Given the description of an element on the screen output the (x, y) to click on. 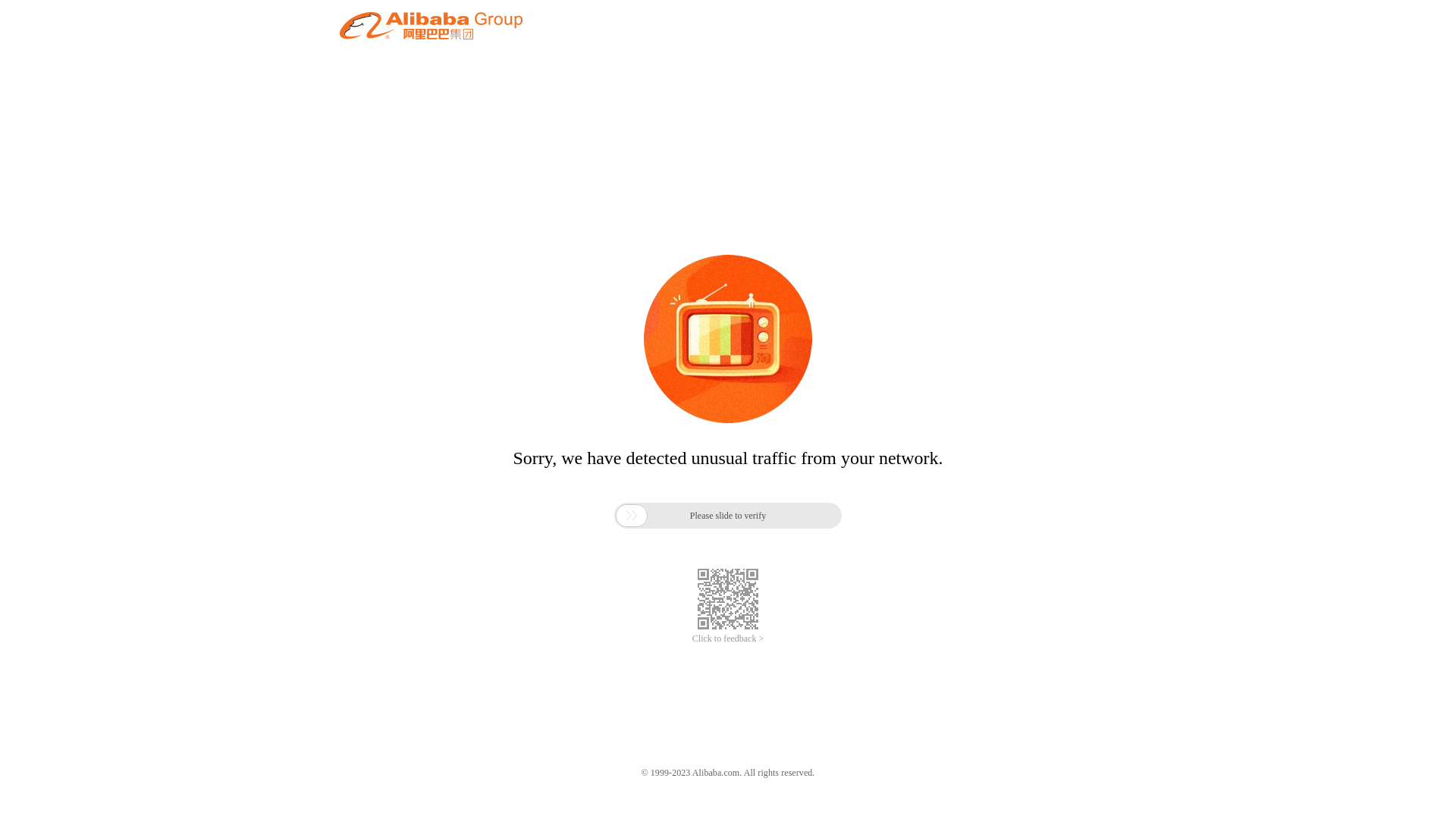
Click to feedback > Element type: text (727, 638)
